Given the description of an element on the screen output the (x, y) to click on. 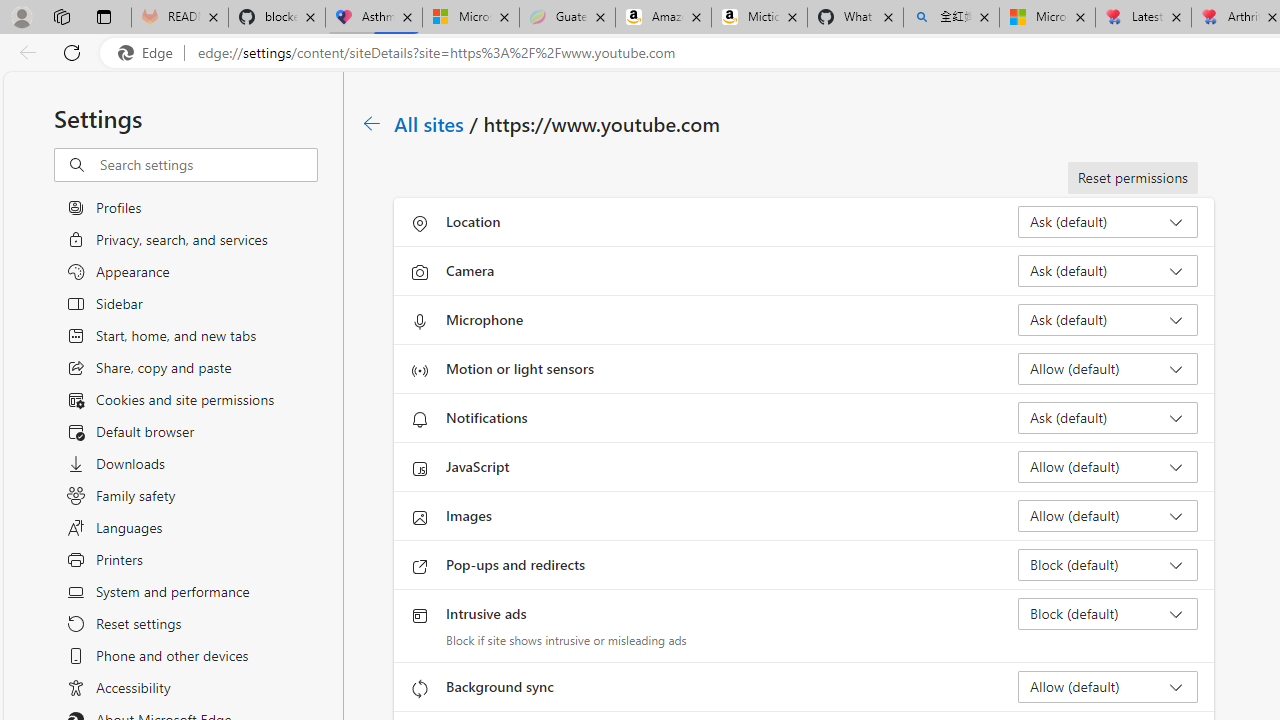
Camera Ask (default) (1107, 270)
Class: c01162 (371, 123)
